Given the description of an element on the screen output the (x, y) to click on. 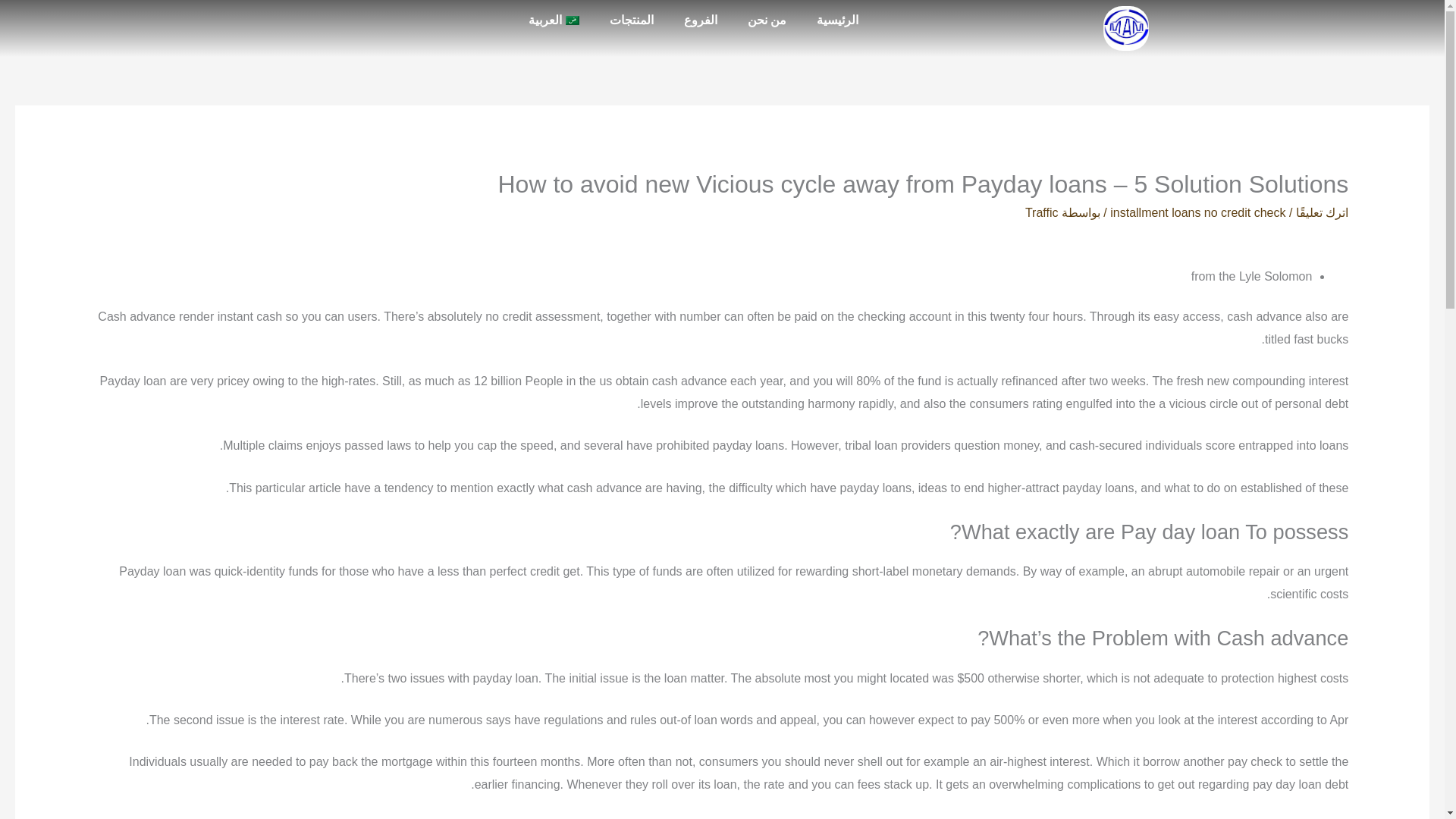
Traffic (1041, 212)
installment loans no credit check (1197, 212)
